Given the description of an element on the screen output the (x, y) to click on. 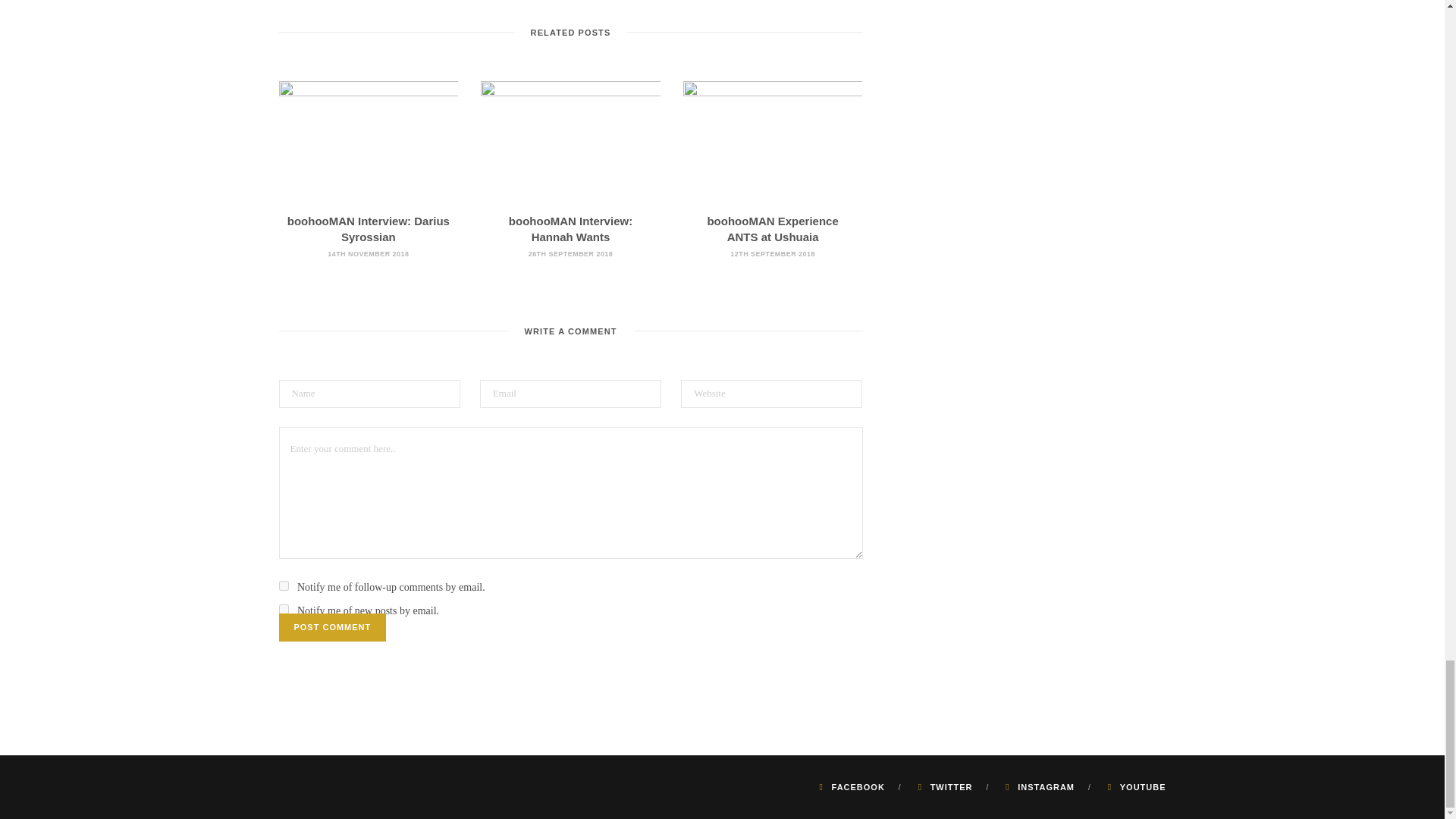
boohooMAN Interview: Darius Syrossian (367, 228)
boohooMAN Interview: Darius Syrossian (368, 140)
Post Comment (333, 627)
Post Comment (333, 627)
boohooMAN Interview: Hannah Wants (570, 140)
subscribe (283, 609)
boohooMAN Experience ANTS at Ushuaia (772, 228)
boohooMAN Interview: Hannah Wants (569, 228)
subscribe (283, 585)
